Given the description of an element on the screen output the (x, y) to click on. 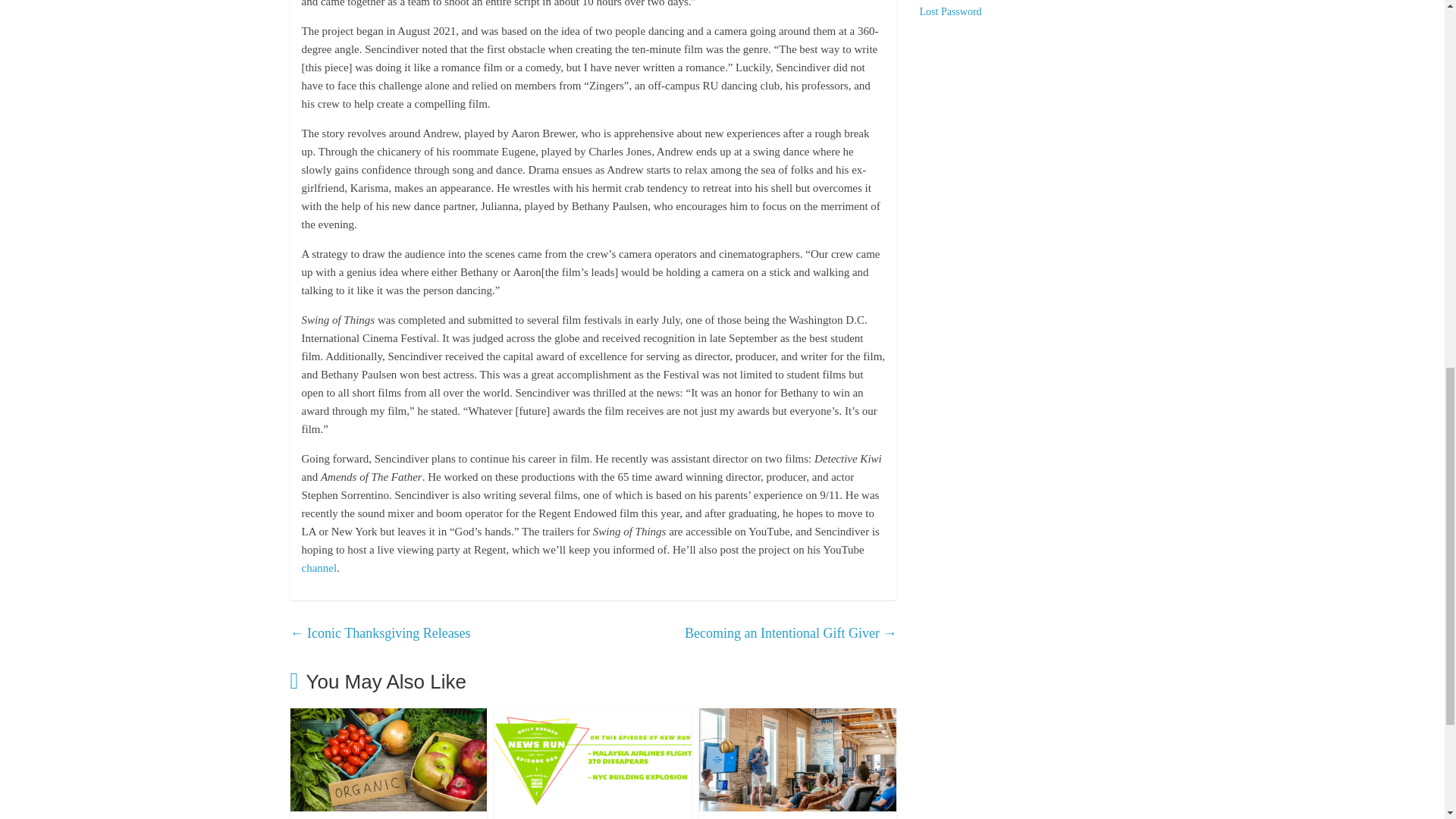
News Run 004 (593, 717)
channel (319, 567)
5 Delicious ways to change the world (387, 717)
